Given the description of an element on the screen output the (x, y) to click on. 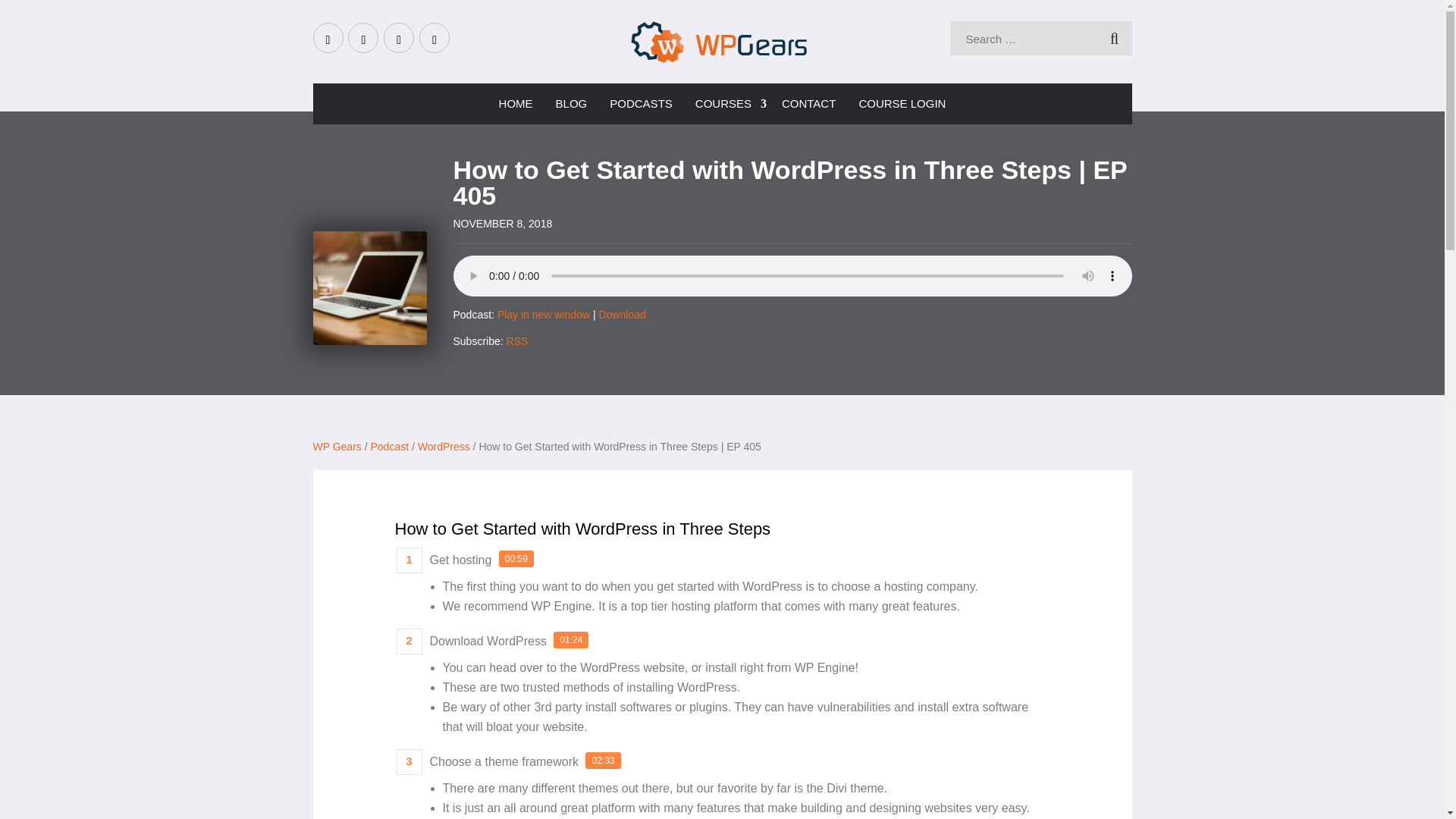
COURSE LOGIN (901, 103)
Play in new window (543, 314)
WP Gears (337, 446)
CONTACT (808, 103)
Go to WP Gears. (337, 446)
Search for: (1023, 38)
Podcast (389, 446)
BLOG (571, 103)
RSS (517, 340)
Download (621, 314)
